Given the description of an element on the screen output the (x, y) to click on. 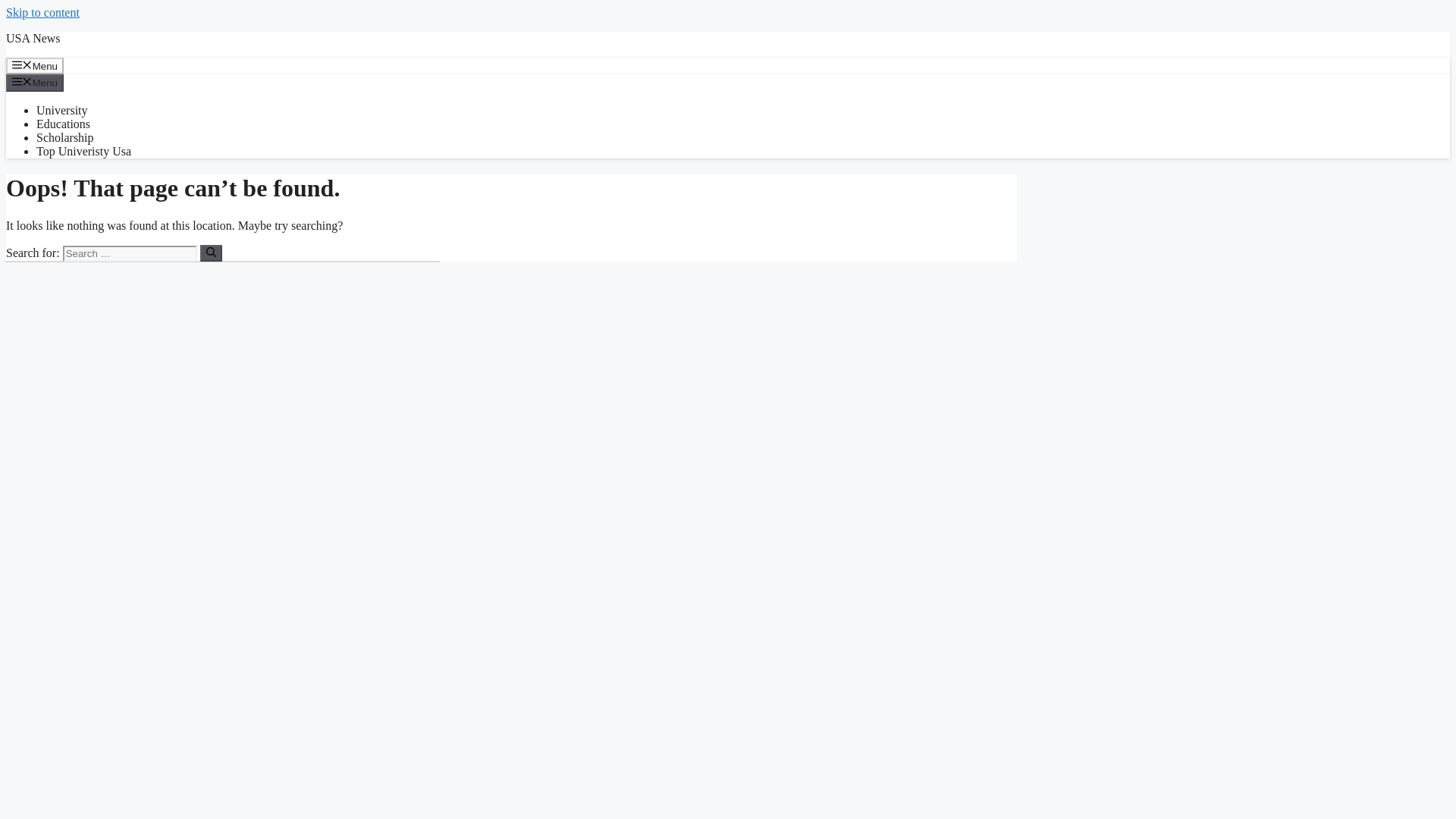
Menu (34, 82)
USA News (33, 38)
Top Univeristy Usa (83, 151)
Scholarship (65, 137)
Menu (34, 65)
Educations (63, 123)
University (61, 110)
Skip to content (42, 11)
Skip to content (42, 11)
